Given the description of an element on the screen output the (x, y) to click on. 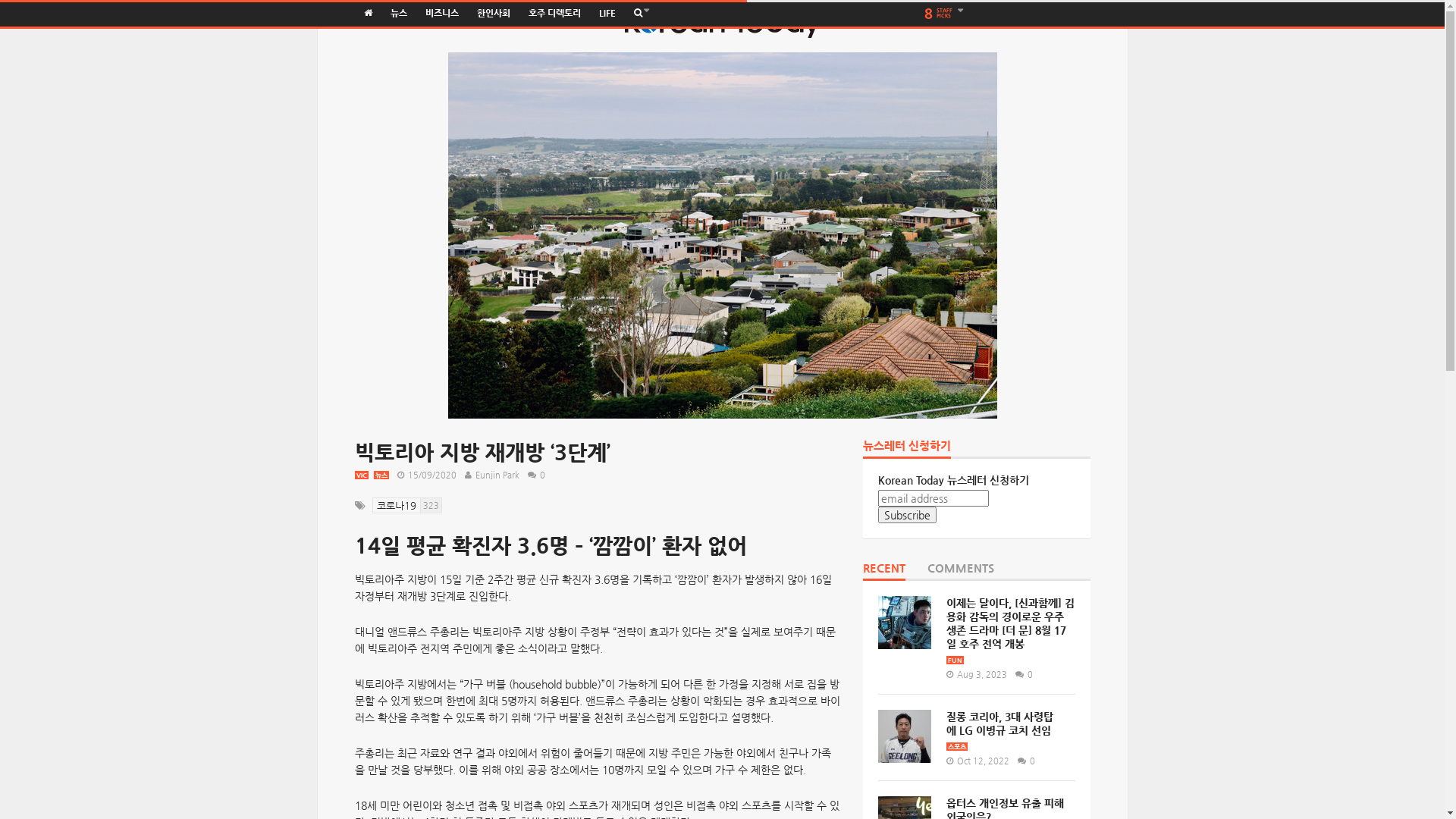
0 Element type: text (1020, 674)
Eunjin Park Element type: text (496, 475)
8
STAFF
PICKS Element type: text (944, 13)
COMMENTS Element type: text (959, 570)
RECENT Element type: text (883, 570)
LIFE Element type: text (606, 13)
VIC Element type: text (361, 474)
<i class="fa fa-home"></i> Element type: hover (367, 13)
0 Element type: text (1023, 760)
Subscribe Element type: text (907, 514)
Post Comment Element type: text (78, 9)
FUN Element type: text (954, 659)
0 Element type: text (533, 475)
